Given the description of an element on the screen output the (x, y) to click on. 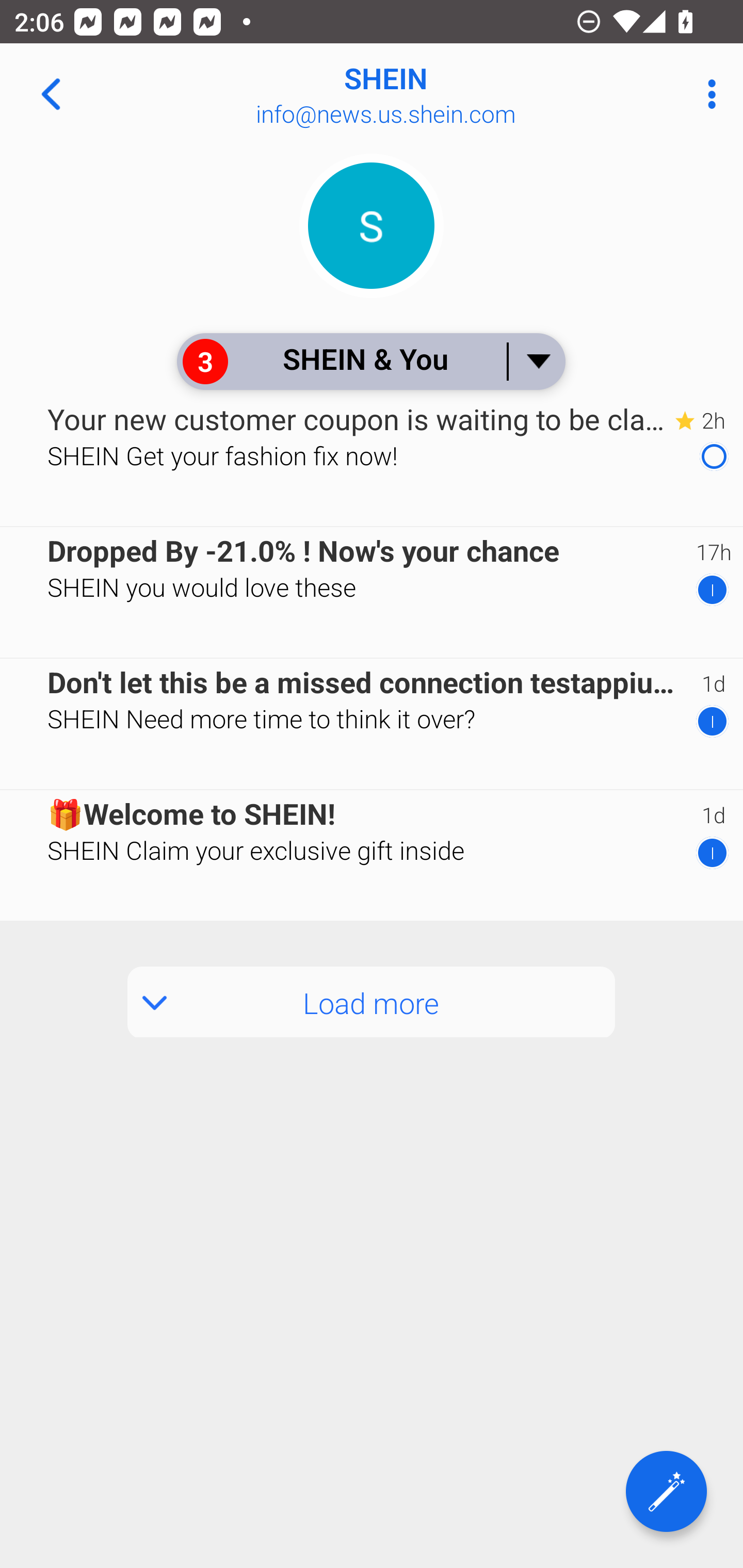
Navigate up (50, 93)
SHEIN info@news.us.shein.com (436, 93)
More Options (706, 93)
3 SHEIN & You (370, 361)
Load more (371, 1001)
